Given the description of an element on the screen output the (x, y) to click on. 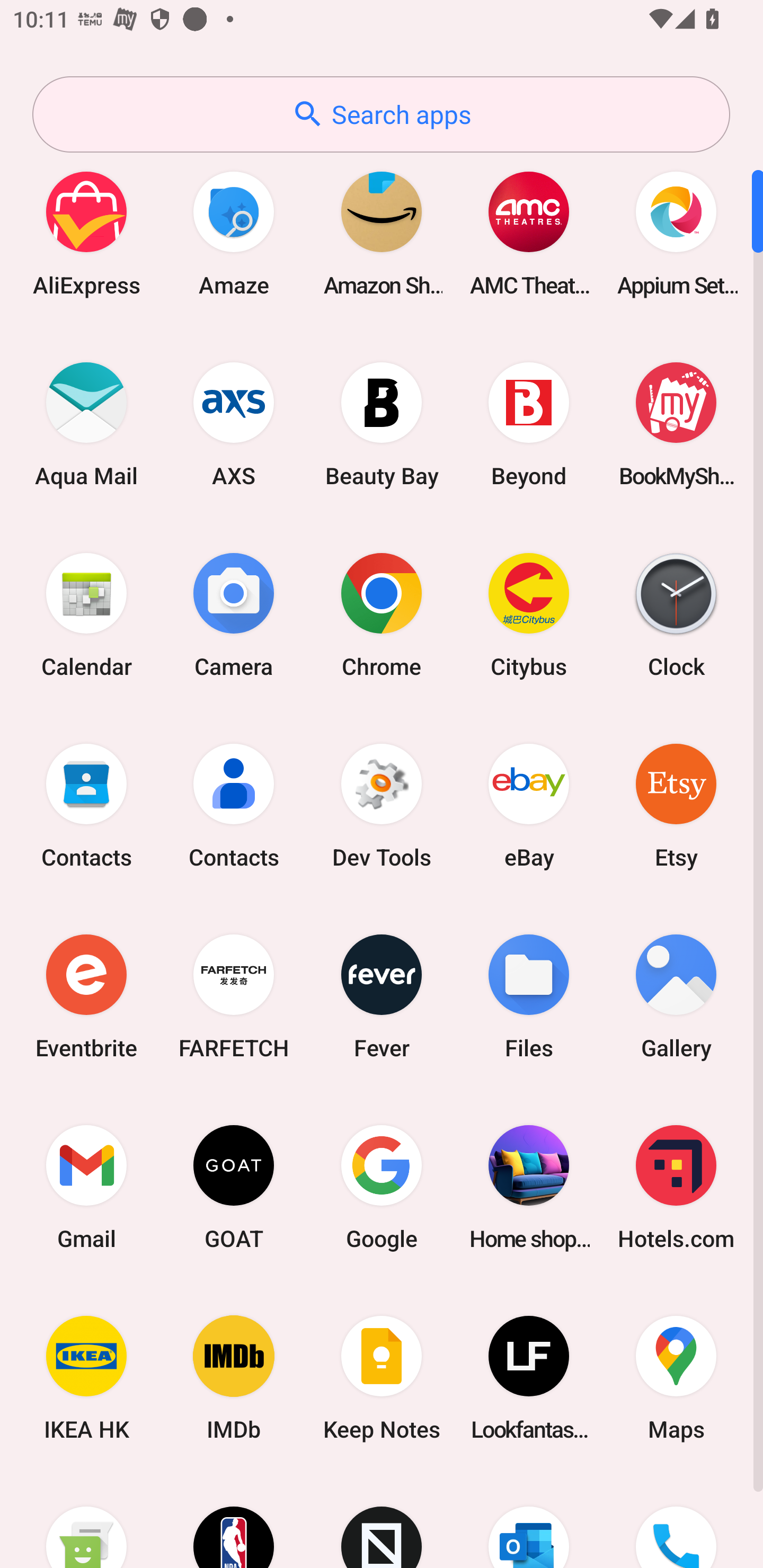
  Search apps (381, 114)
AliExpress (86, 233)
Amaze (233, 233)
Amazon Shopping (381, 233)
AMC Theatres (528, 233)
Appium Settings (676, 233)
Aqua Mail (86, 424)
AXS (233, 424)
Beauty Bay (381, 424)
Beyond (528, 424)
BookMyShow (676, 424)
Calendar (86, 614)
Camera (233, 614)
Chrome (381, 614)
Citybus (528, 614)
Clock (676, 614)
Contacts (86, 805)
Contacts (233, 805)
Dev Tools (381, 805)
eBay (528, 805)
Etsy (676, 805)
Eventbrite (86, 996)
FARFETCH (233, 996)
Fever (381, 996)
Files (528, 996)
Gallery (676, 996)
Gmail (86, 1186)
GOAT (233, 1186)
Google (381, 1186)
Home shopping (528, 1186)
Hotels.com (676, 1186)
IKEA HK (86, 1377)
IMDb (233, 1377)
Keep Notes (381, 1377)
Lookfantastic (528, 1377)
Maps (676, 1377)
